Given the description of an element on the screen output the (x, y) to click on. 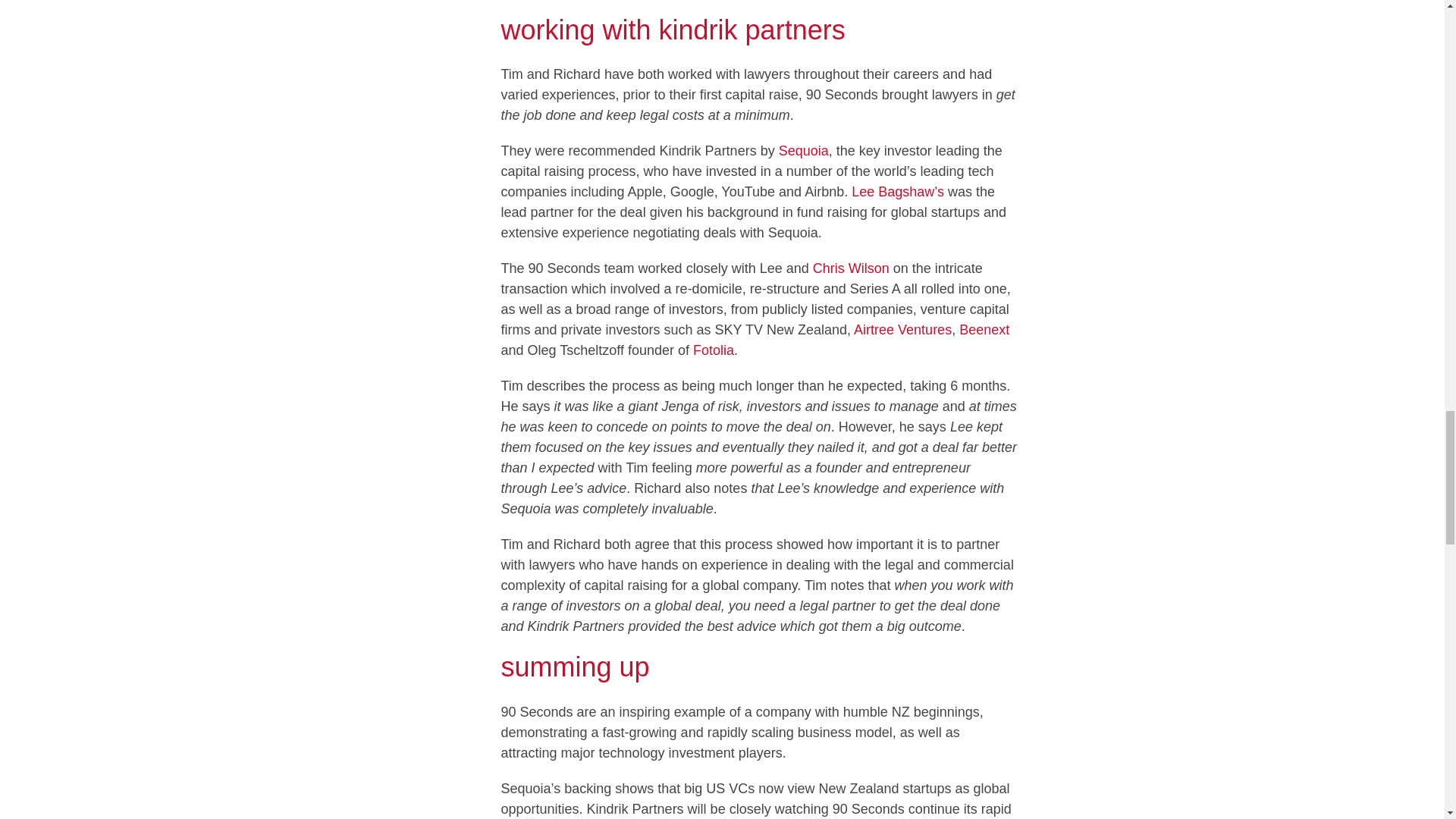
Beenext (984, 329)
Chris Wilson (850, 268)
Fotolia (713, 350)
Sequoia (803, 150)
Airtree Ventures (902, 329)
